Given the description of an element on the screen output the (x, y) to click on. 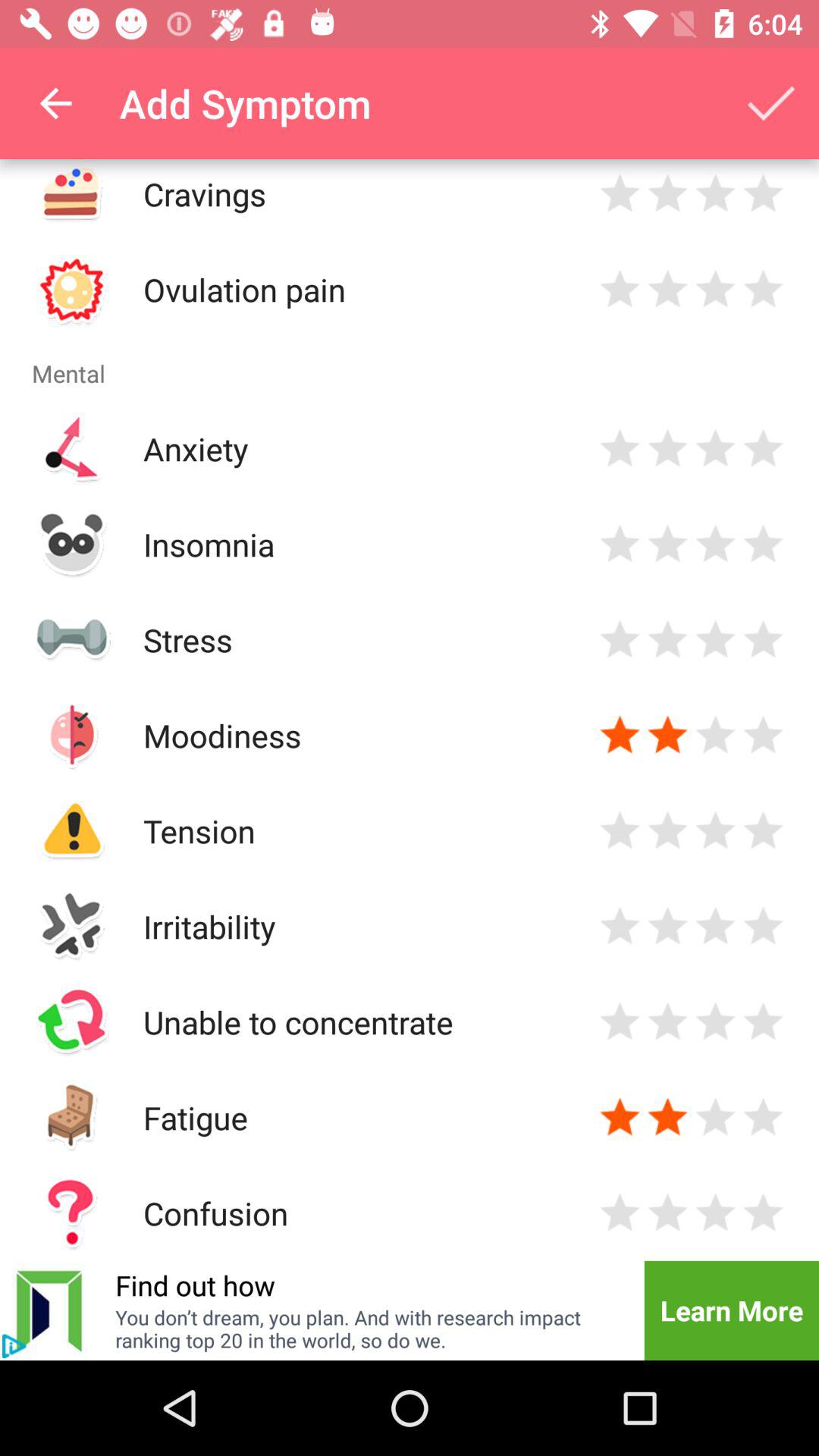
rate tension symptom with 1 star (619, 830)
